Given the description of an element on the screen output the (x, y) to click on. 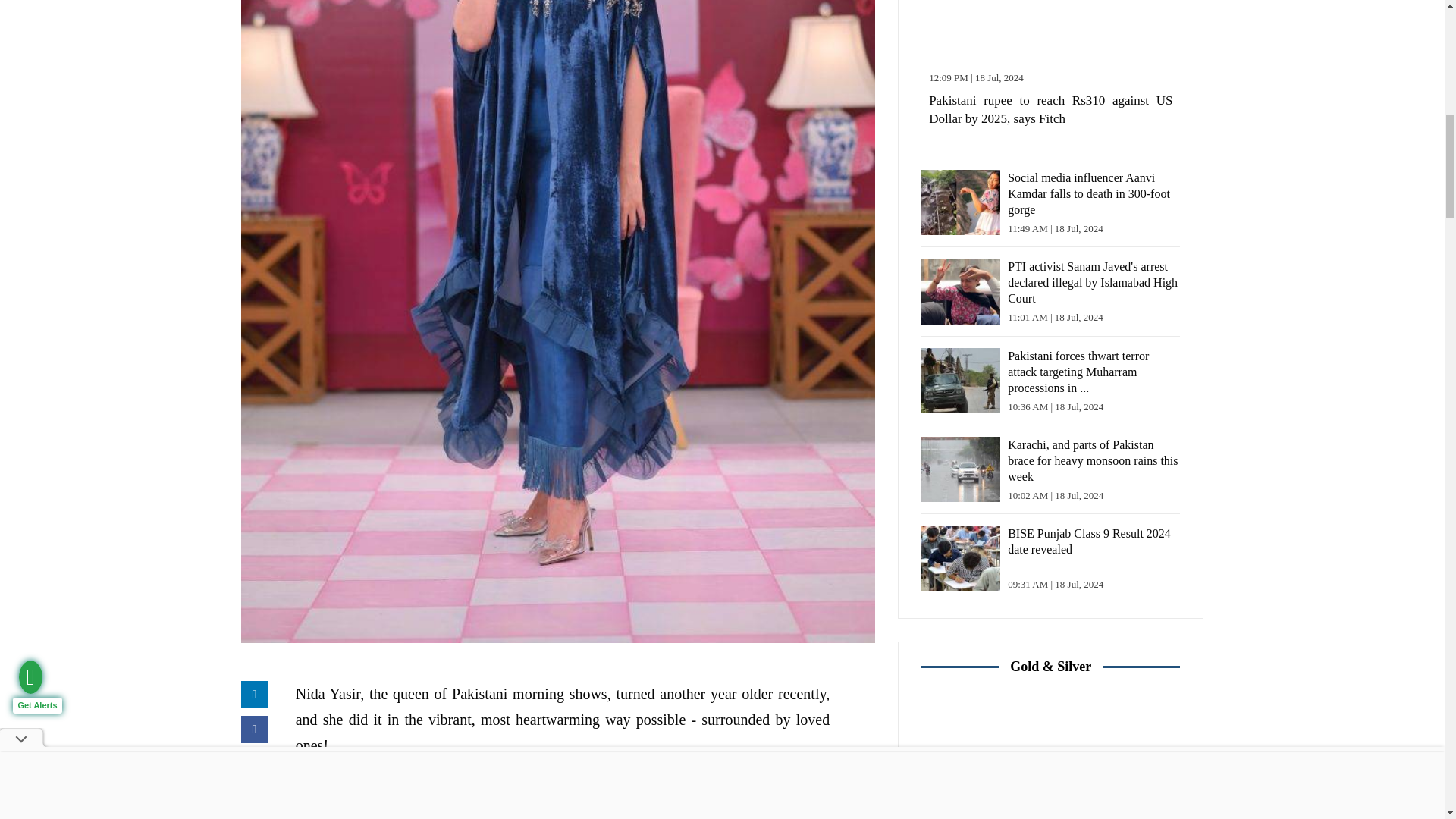
BISE Punjab Class 9 Result 2024 date revealed (960, 557)
